Given the description of an element on the screen output the (x, y) to click on. 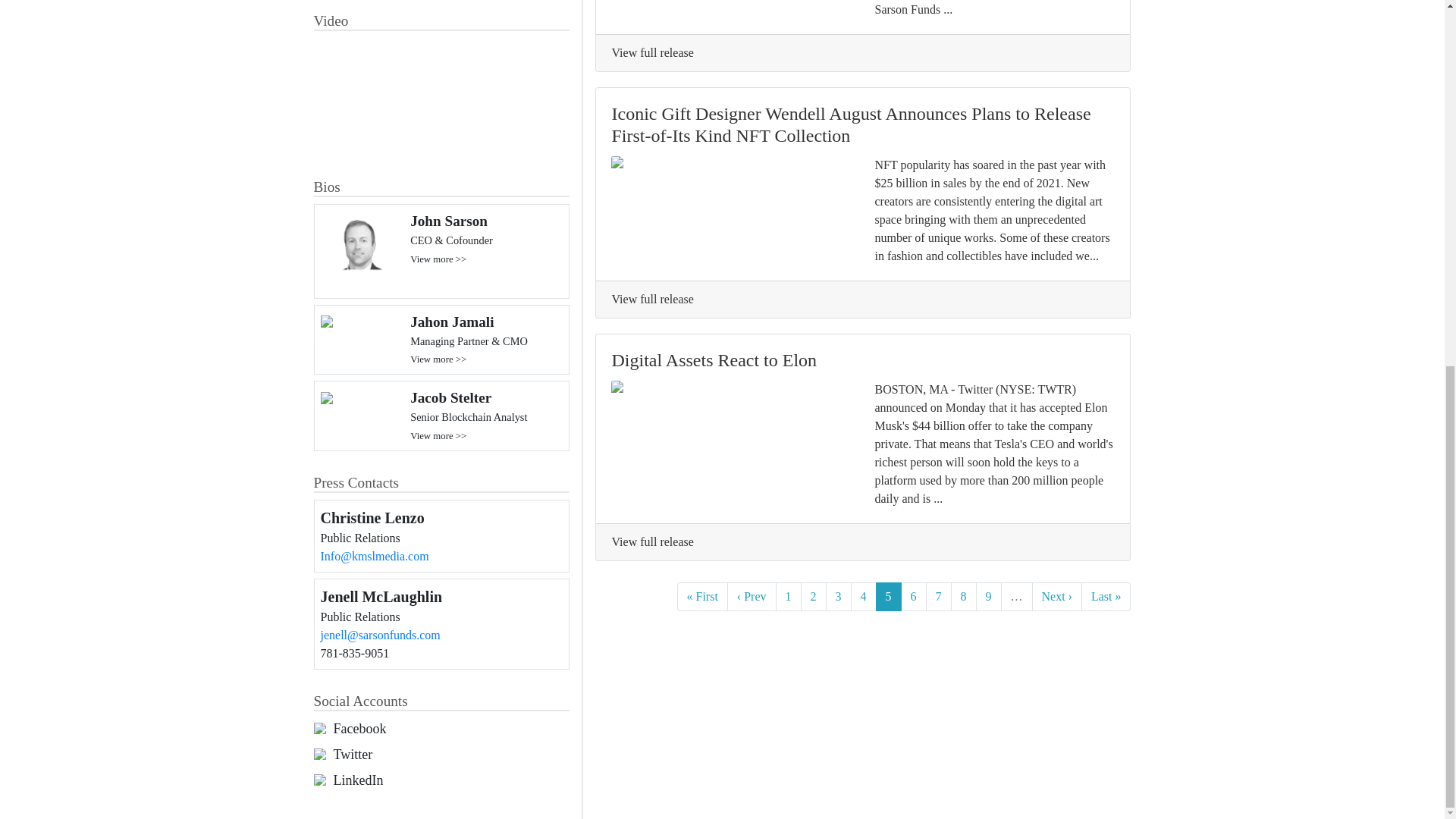
Facebook (360, 729)
1 (787, 596)
Twitter (352, 754)
LinkedIn (358, 780)
2 (813, 596)
